Given the description of an element on the screen output the (x, y) to click on. 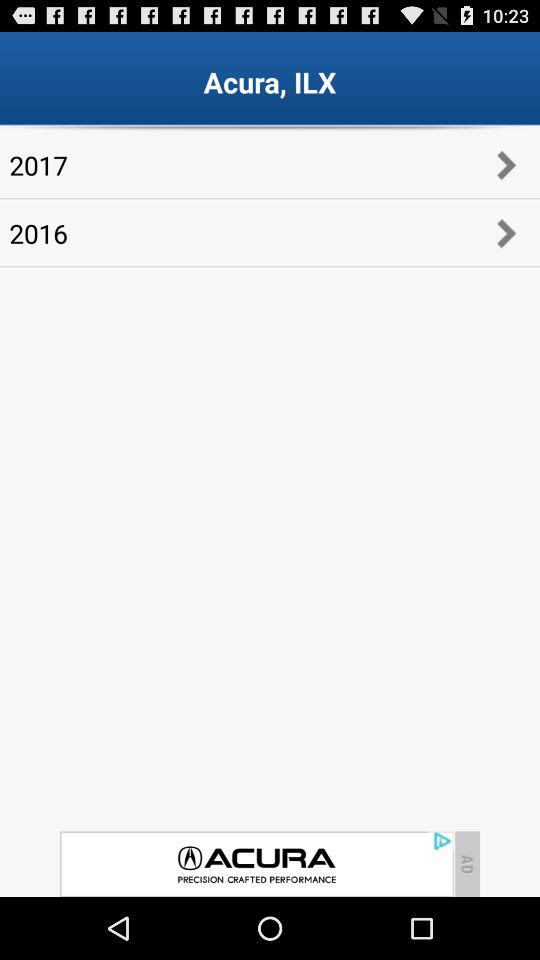
advertisement link (256, 864)
